Given the description of an element on the screen output the (x, y) to click on. 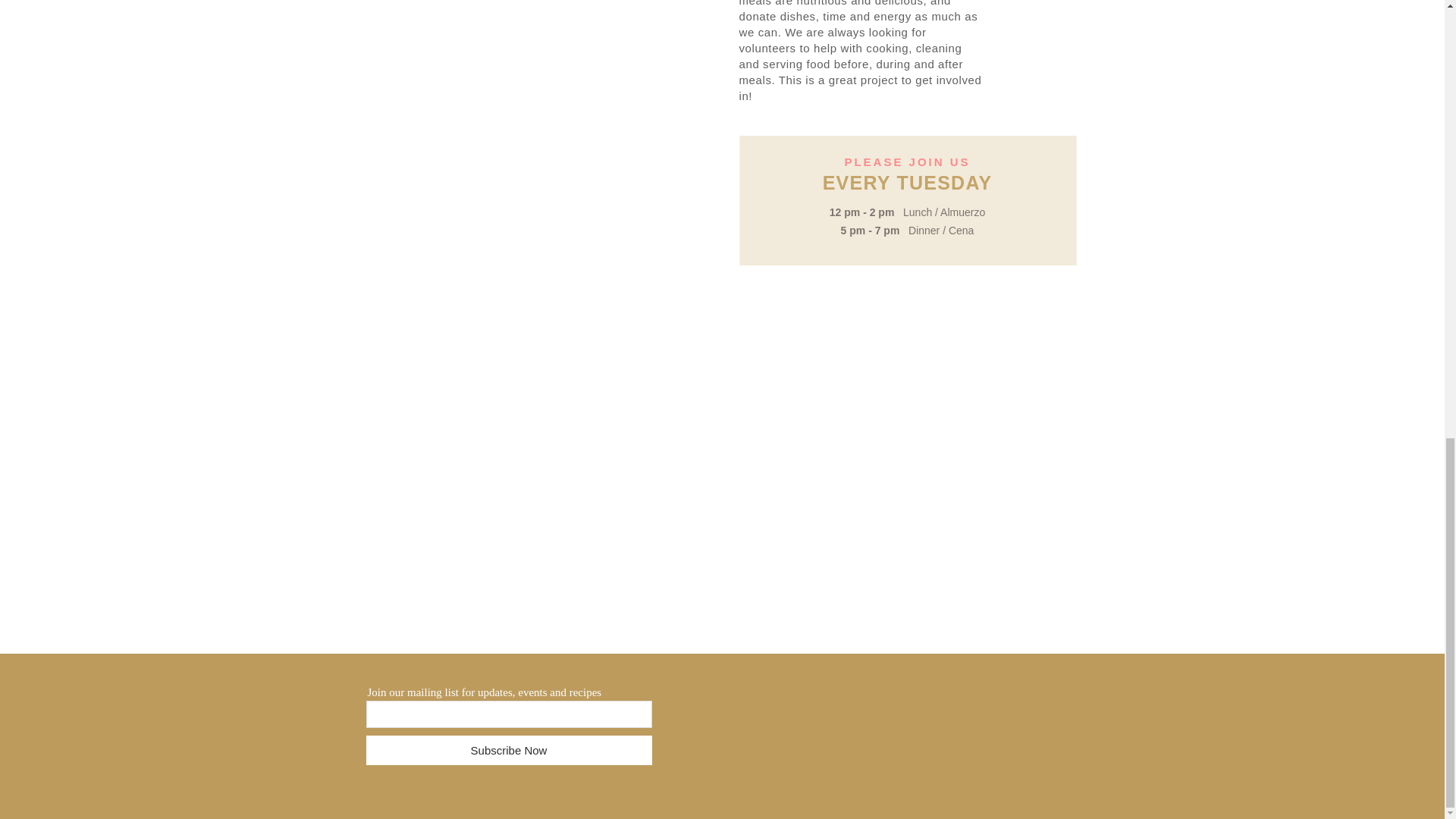
Subscribe Now (507, 749)
